Given the description of an element on the screen output the (x, y) to click on. 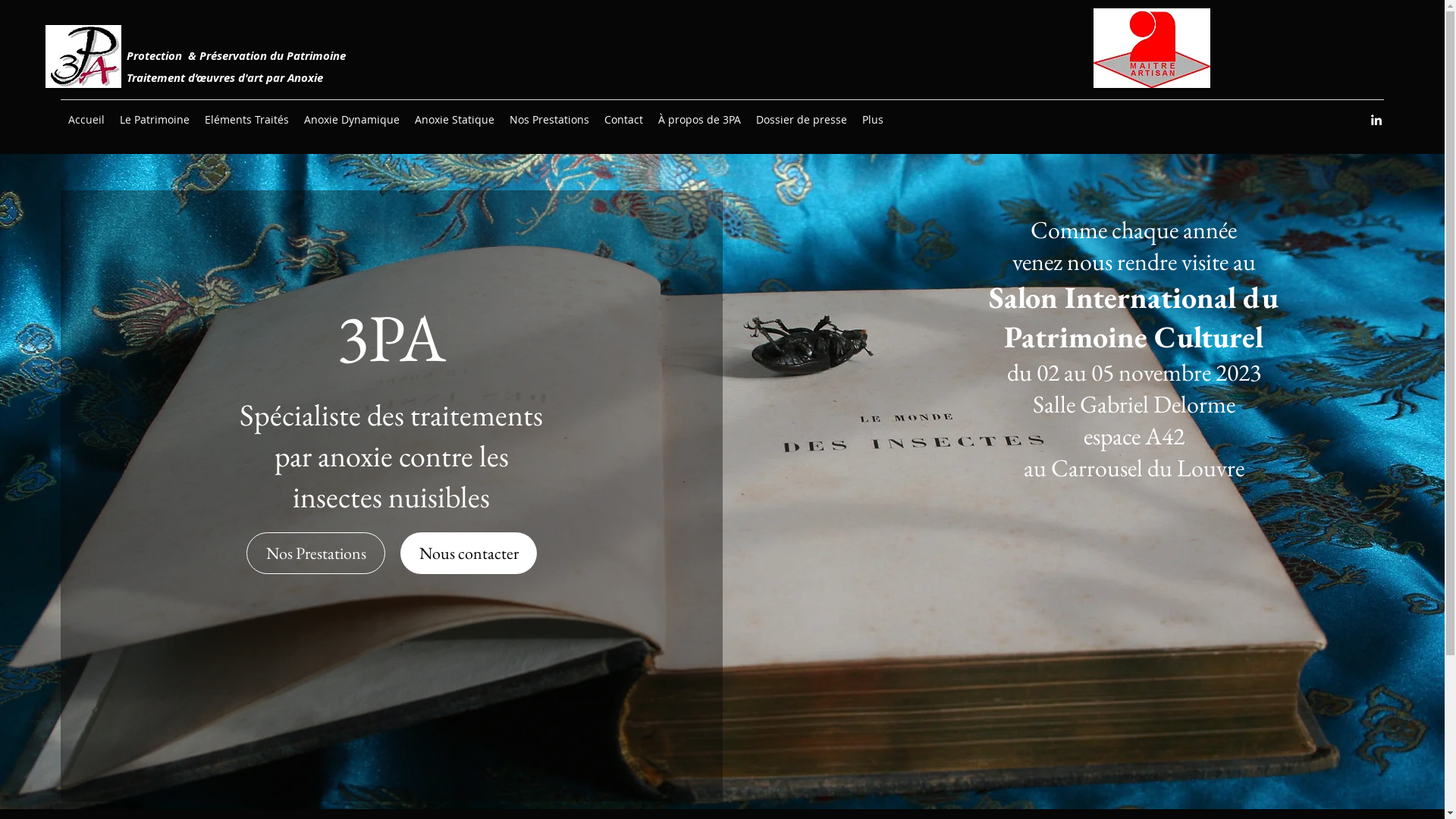
Anoxie Dynamique Element type: text (351, 119)
Logo maitre artisan.JPG Element type: hover (1151, 47)
Nos Prestations Element type: text (549, 119)
Le Patrimoine Element type: text (154, 119)
Nos Prestations Element type: text (315, 553)
Nous contacter Element type: text (468, 553)
Accueil Element type: text (86, 119)
Contact Element type: text (623, 119)
Anoxie Statique Element type: text (454, 119)
Dossier de presse Element type: text (801, 119)
